Given the description of an element on the screen output the (x, y) to click on. 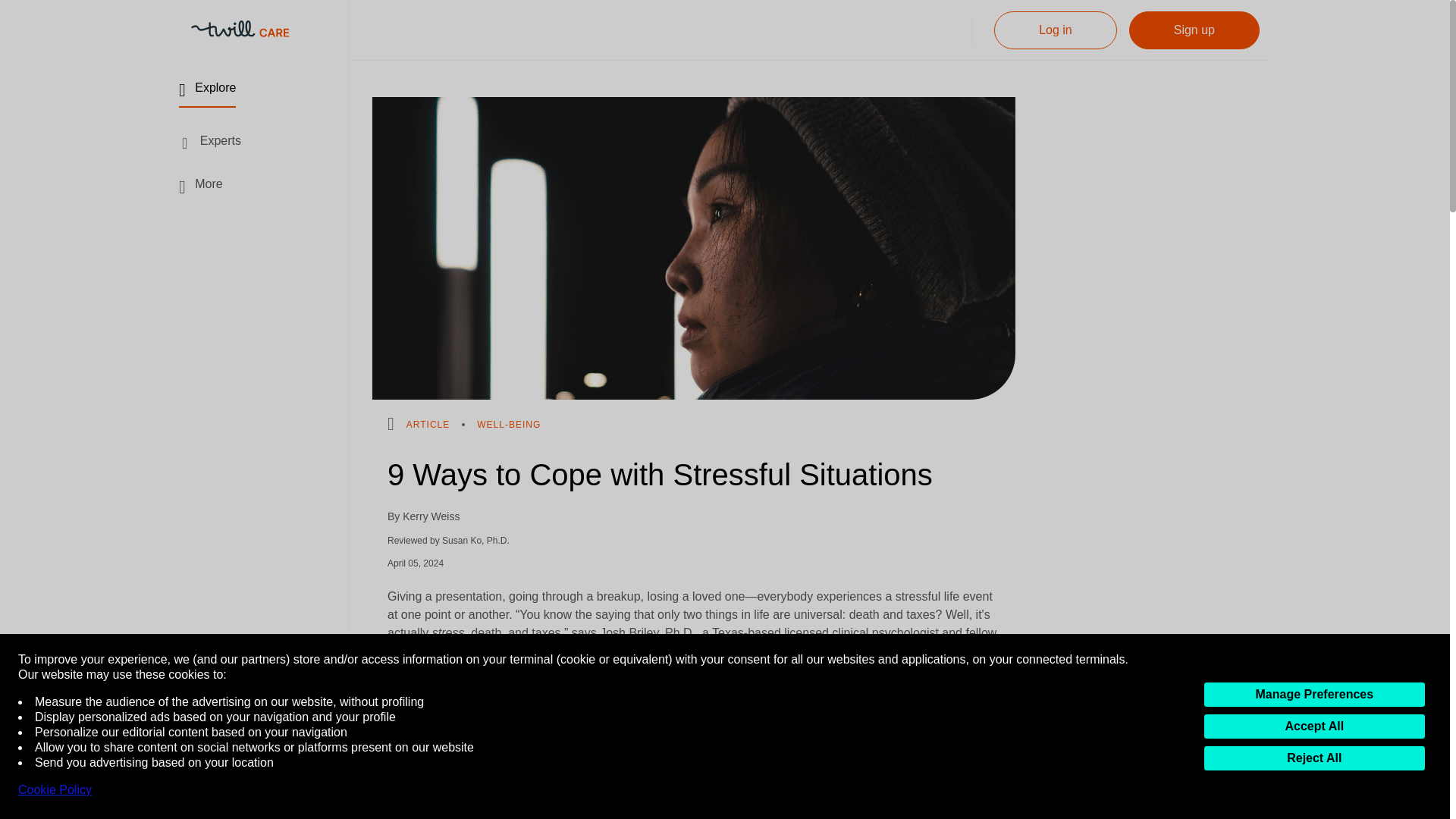
Reject All (1314, 758)
Manage Preferences (1319, 694)
WELL-BEING (508, 424)
Cookie Policy (54, 789)
Accept All (1319, 726)
Allison Young, M.D. (673, 804)
More (200, 185)
Sign up (1194, 30)
Log in (1055, 30)
Explore (207, 92)
Experts (210, 140)
Additional Information. (231, 761)
